Given the description of an element on the screen output the (x, y) to click on. 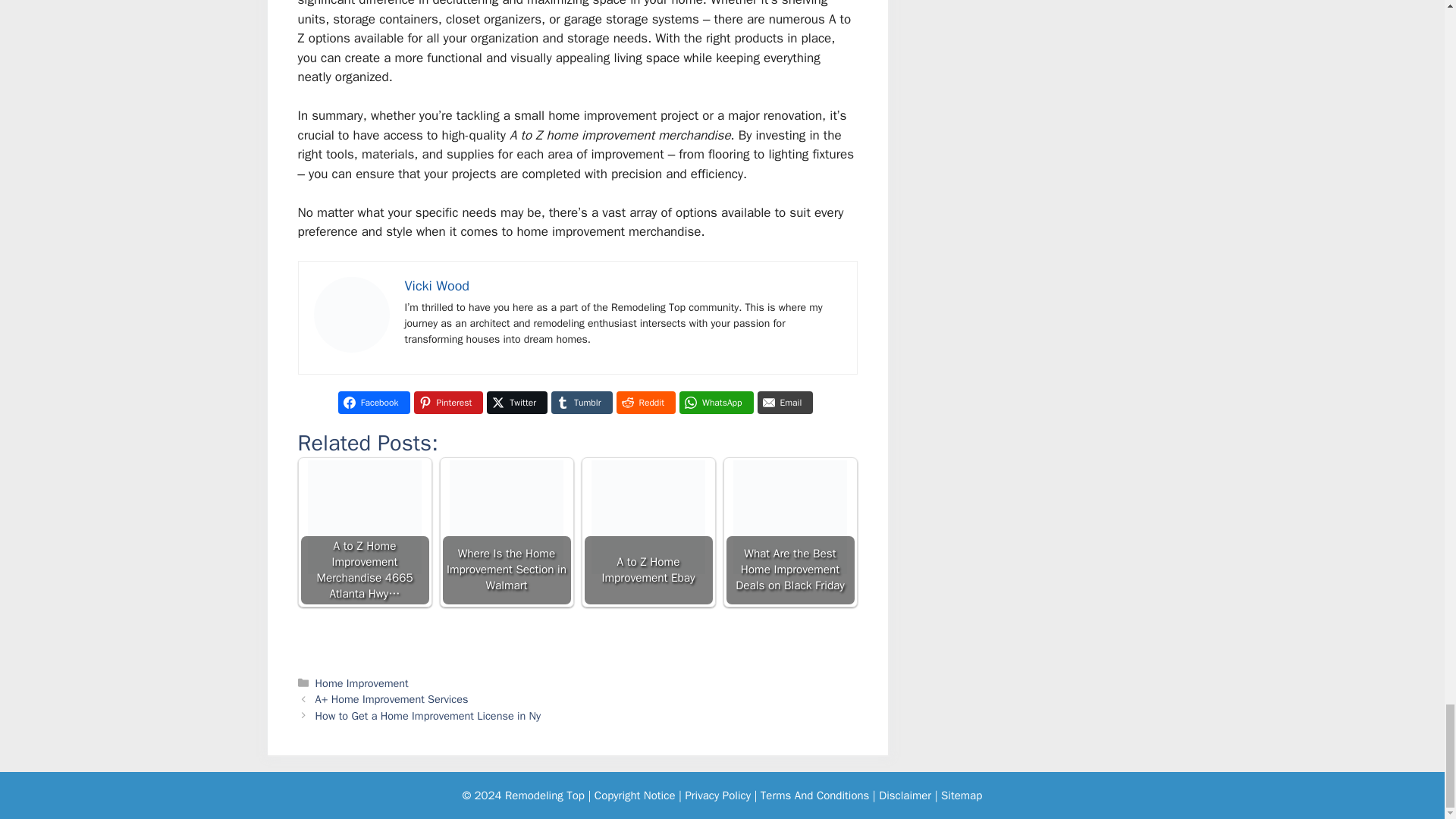
Share on Pinterest (448, 402)
Facebook (373, 402)
A to Z Home Improvement Merchandise 2 (352, 314)
Share on Facebook (373, 402)
Vicki Wood (437, 285)
